Given the description of an element on the screen output the (x, y) to click on. 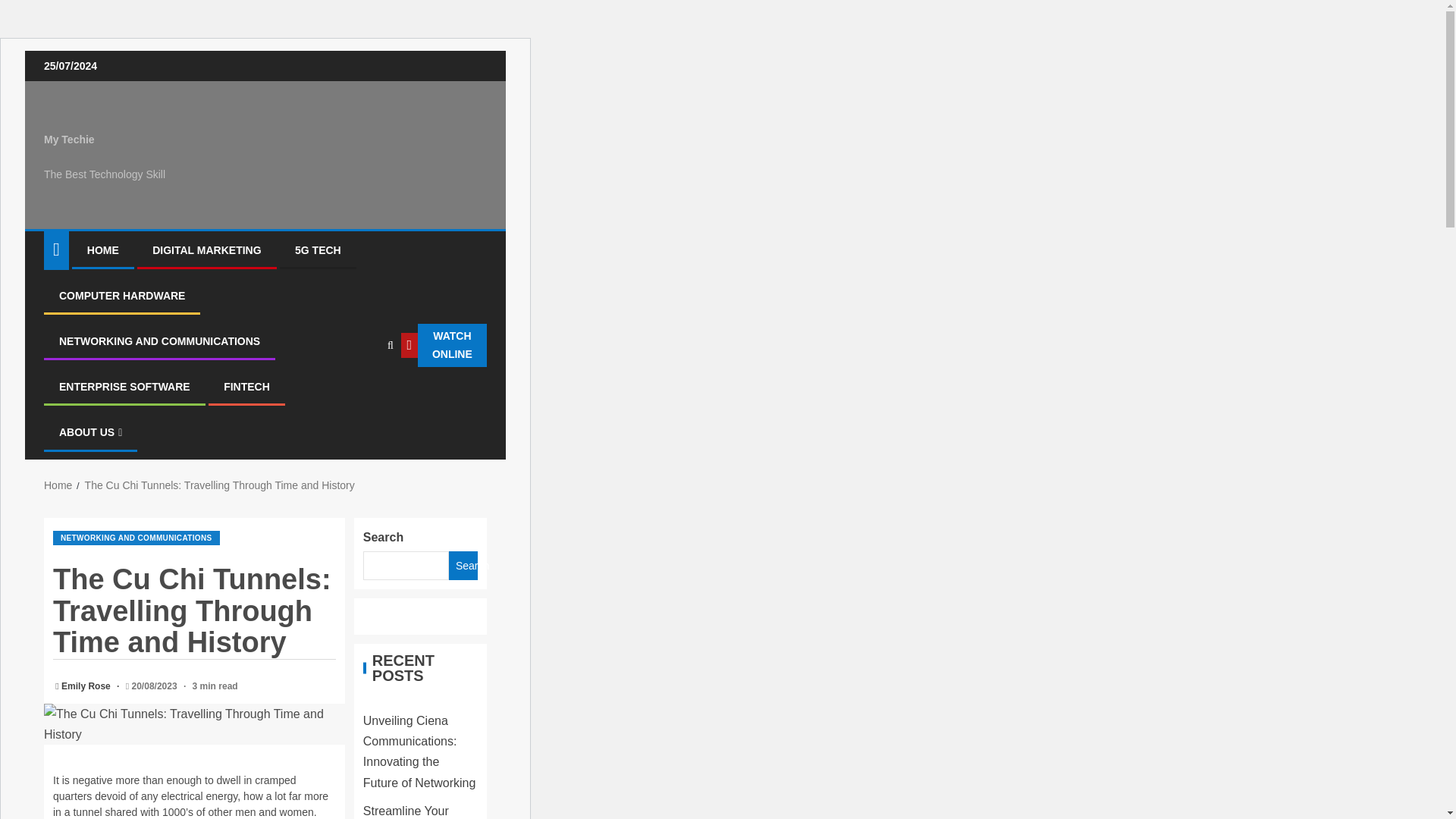
COMPUTER HARDWARE (121, 295)
FINTECH (246, 386)
ENTERPRISE SOFTWARE (124, 386)
Search (358, 391)
The Cu Chi Tunnels: Travelling Through Time and History (219, 485)
ABOUT US (90, 431)
NETWORKING AND COMMUNICATIONS (135, 537)
WATCH ONLINE (443, 345)
DIGITAL MARKETING (206, 250)
Emily Rose (87, 685)
Home (57, 485)
5G TECH (317, 250)
My Techie (68, 139)
HOME (103, 250)
Search (462, 565)
